Given the description of an element on the screen output the (x, y) to click on. 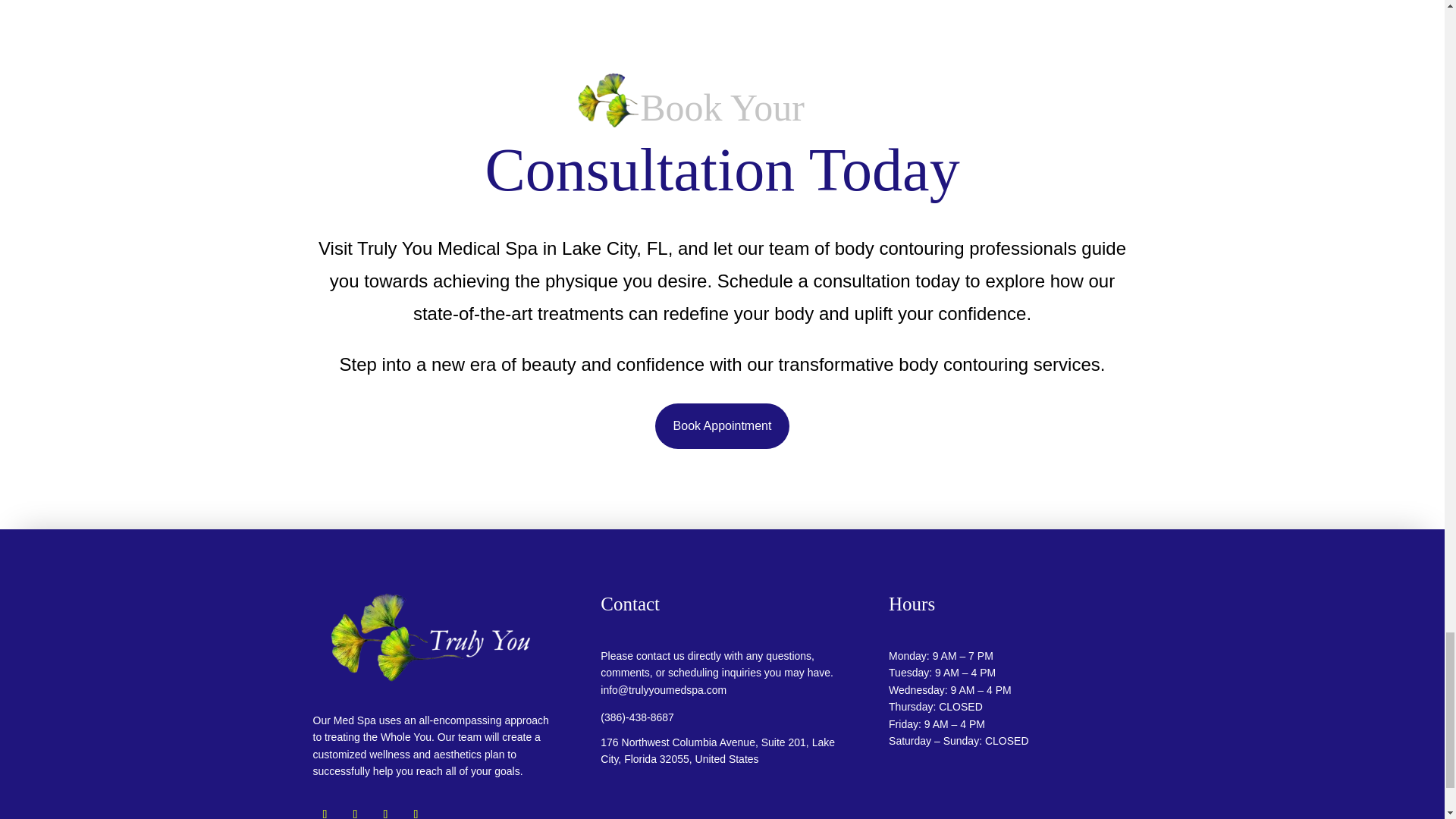
Follow on Yelp (415, 810)
Follow on Facebook (324, 810)
Follow on TikTok (384, 810)
Follow on Instagram (354, 810)
